Given the description of an element on the screen output the (x, y) to click on. 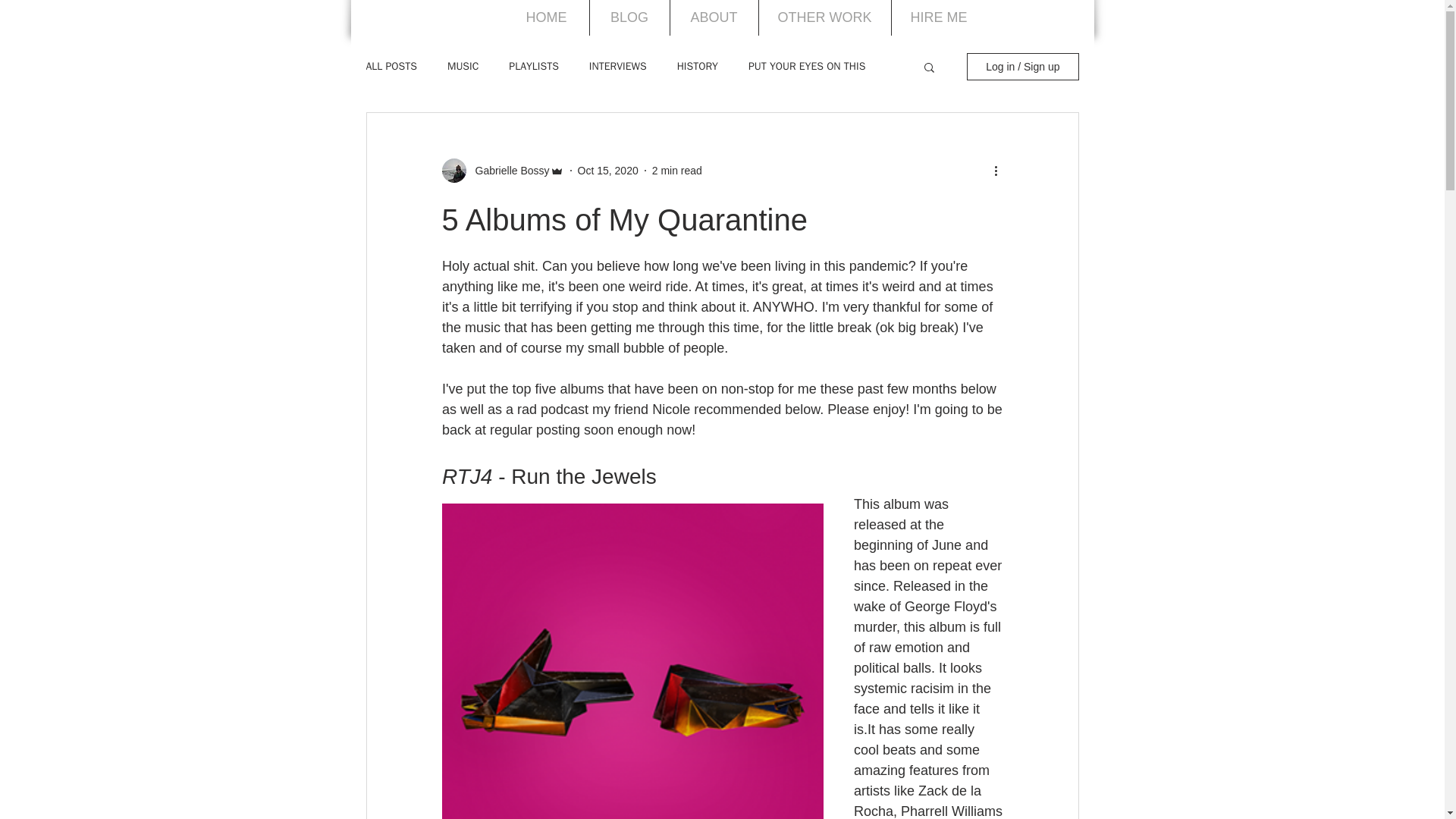
2 min read (676, 169)
HOME (545, 18)
BLOG (629, 18)
HISTORY (697, 66)
ALL POSTS (390, 66)
INTERVIEWS (617, 66)
PLAYLISTS (532, 66)
MUSIC (462, 66)
HIRE ME (939, 18)
Oct 15, 2020 (608, 169)
PUT YOUR EYES ON THIS (806, 66)
ABOUT (713, 18)
Gabrielle Bossy (506, 170)
OTHER WORK (823, 18)
